Given the description of an element on the screen output the (x, y) to click on. 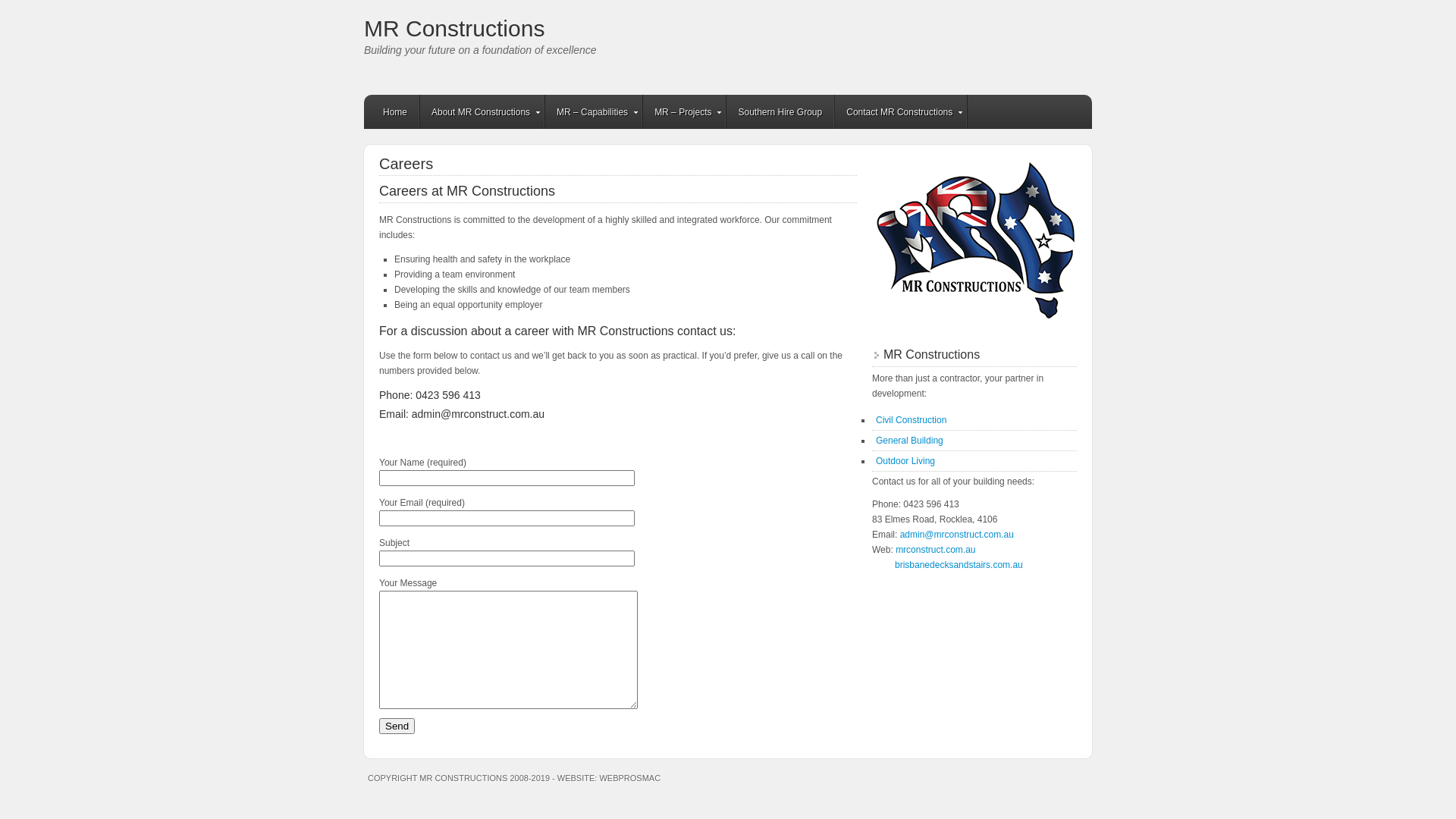
General Building Element type: text (909, 440)
Home Element type: text (395, 111)
brisbanedecksandstairs.com.au Element type: text (958, 564)
MR Constructions Element type: text (454, 27)
Send Element type: text (396, 726)
mrconstruct.com.au Element type: text (935, 549)
Southern Hire Group Element type: text (780, 111)
admin@mrconstruct.com.au Element type: text (956, 534)
Civil Construction Element type: text (910, 419)
Outdoor Living Element type: text (905, 460)
